Given the description of an element on the screen output the (x, y) to click on. 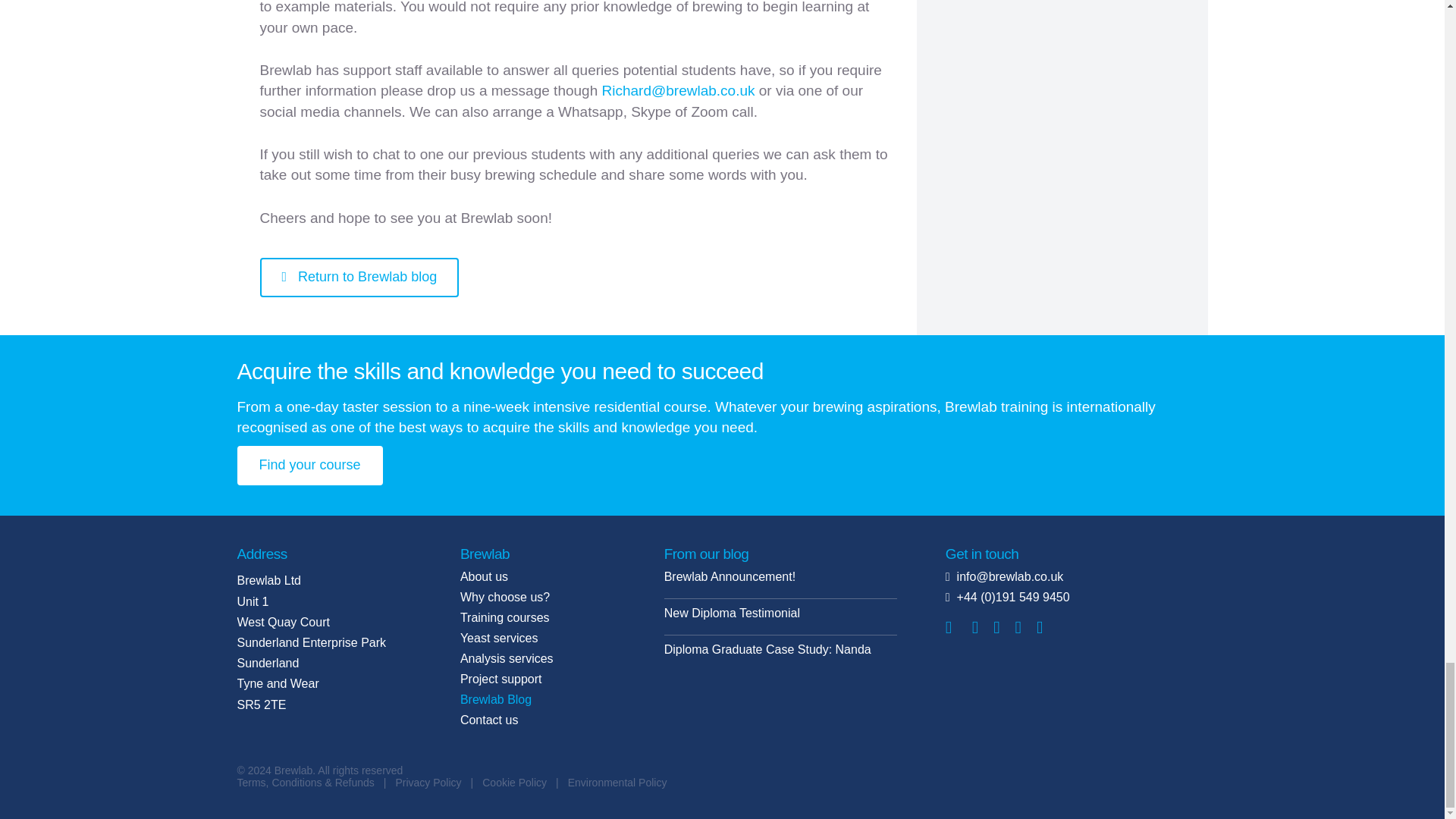
Find your course (308, 465)
About us (547, 580)
   Return to Brewlab blog (358, 277)
View our brewing courses (308, 465)
